Given the description of an element on the screen output the (x, y) to click on. 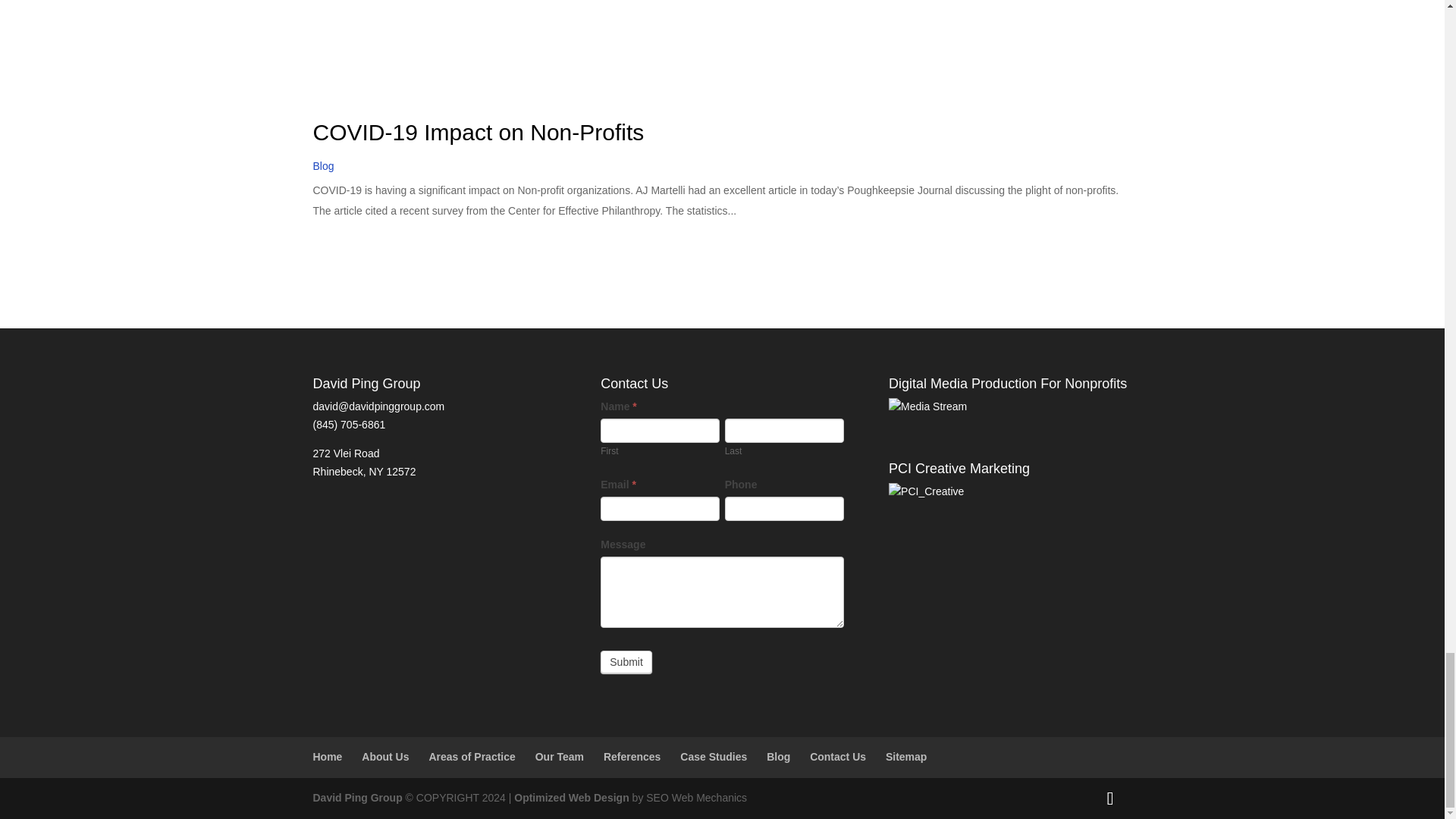
Submit (625, 661)
Blog (323, 165)
COVID-19 Impact on Non-Profits (478, 131)
